Given the description of an element on the screen output the (x, y) to click on. 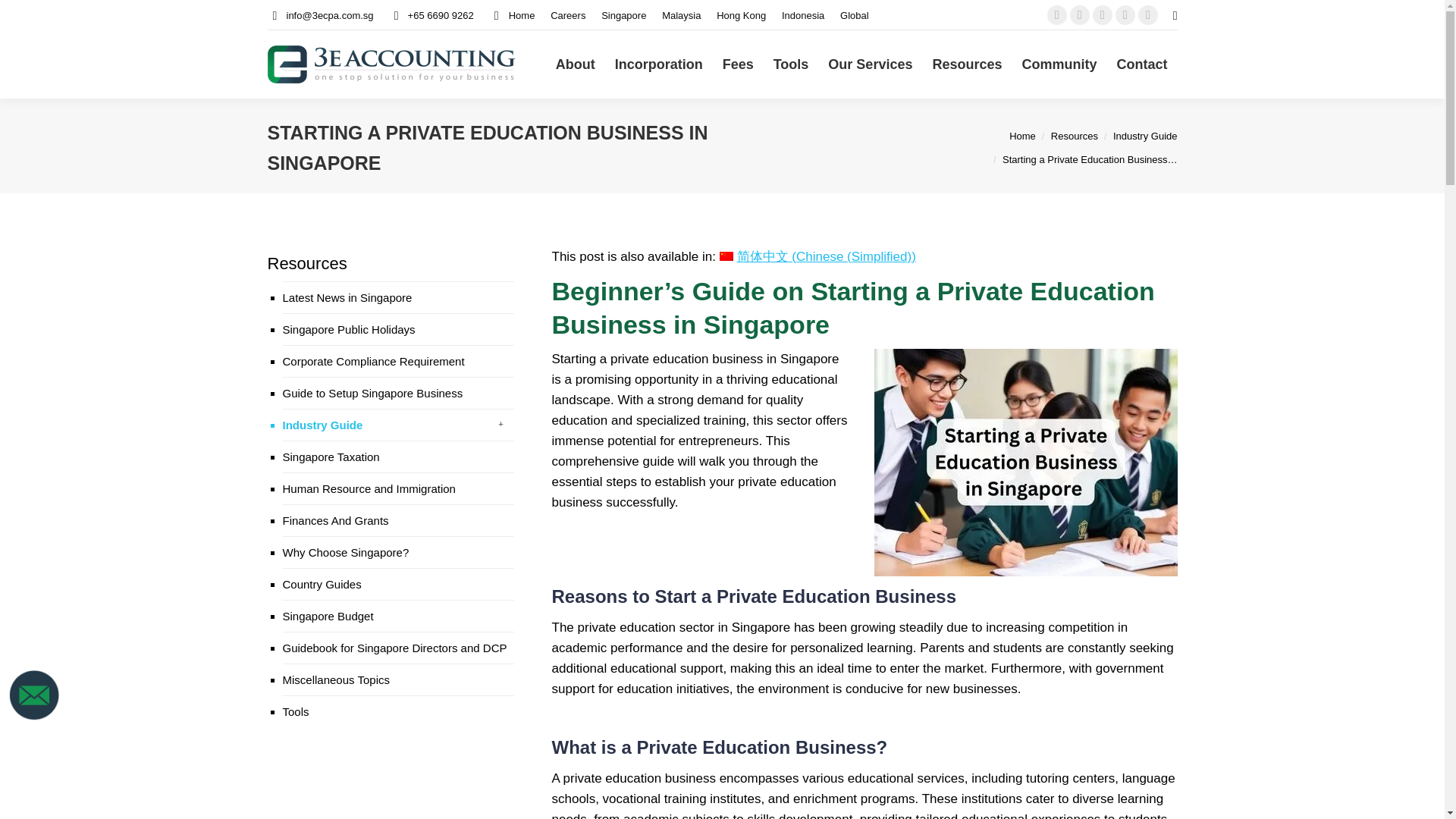
Facebook page opens in new window (1056, 14)
3E Accounting Hong Kong (740, 14)
Home (512, 14)
3E Accounting Malaysia (681, 14)
Incorporation (659, 64)
3E Accounting International Network (854, 14)
YouTube page opens in new window (1102, 14)
Malaysia (681, 14)
Singapore (623, 14)
Hong Kong (740, 14)
